Given the description of an element on the screen output the (x, y) to click on. 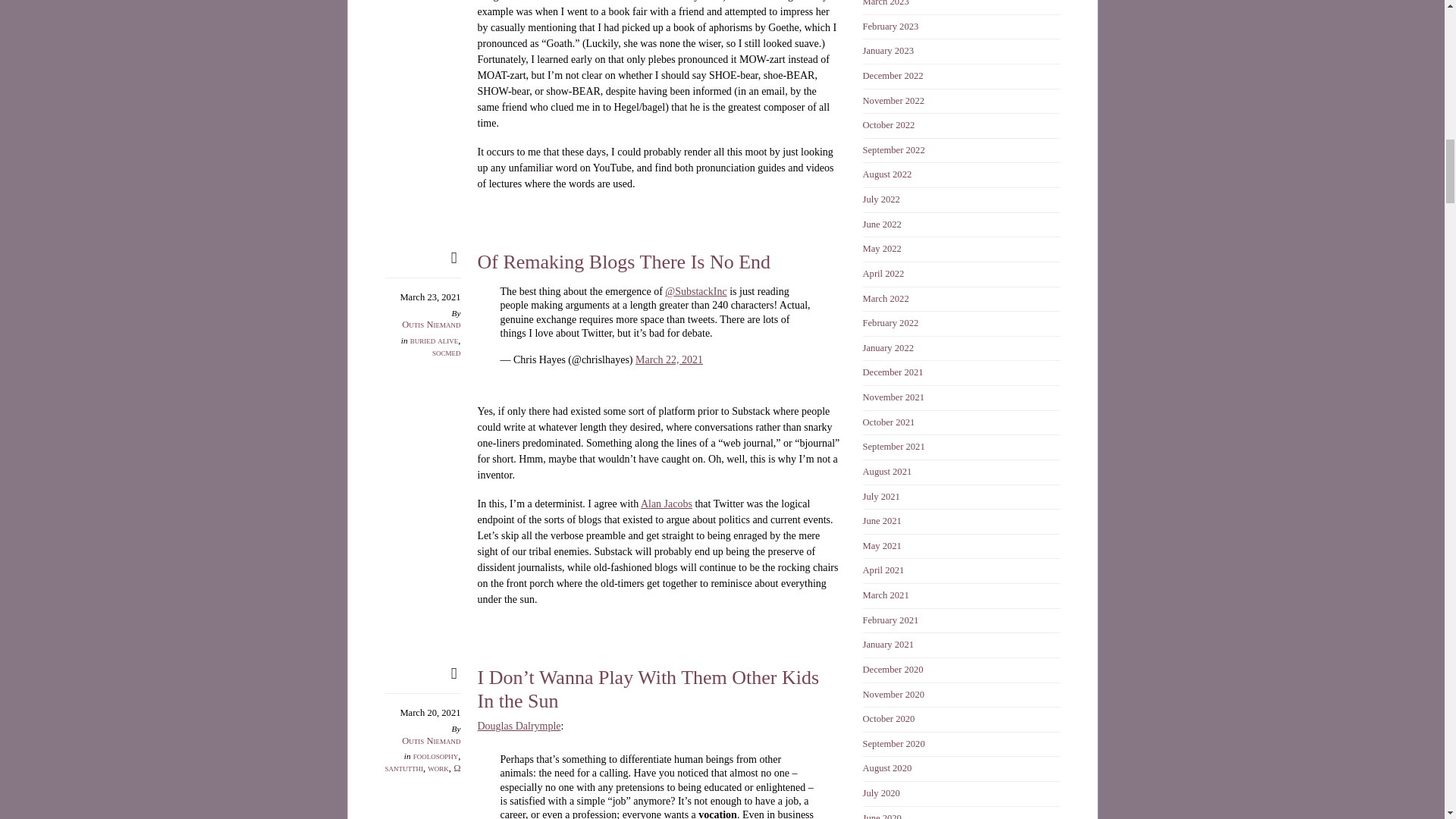
buried alive (434, 339)
foolosophy (435, 756)
Of Remaking Blogs There Is No End (624, 261)
socmed (446, 352)
March 22, 2021 (668, 359)
santutthi (404, 767)
work (438, 767)
Outis Niemand (430, 740)
Outis Niemand (430, 324)
Alan Jacobs (666, 503)
